Given the description of an element on the screen output the (x, y) to click on. 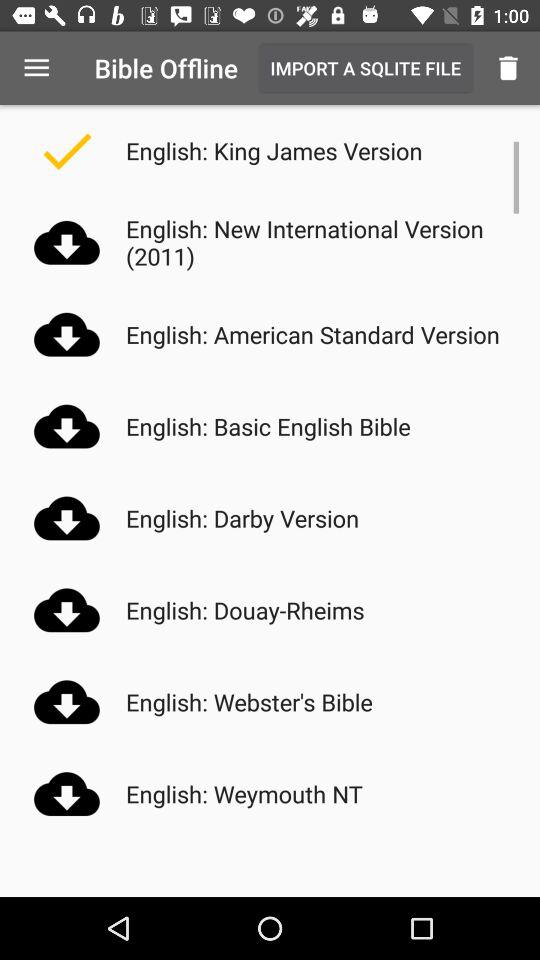
launch import a sqlite item (365, 67)
